Given the description of an element on the screen output the (x, y) to click on. 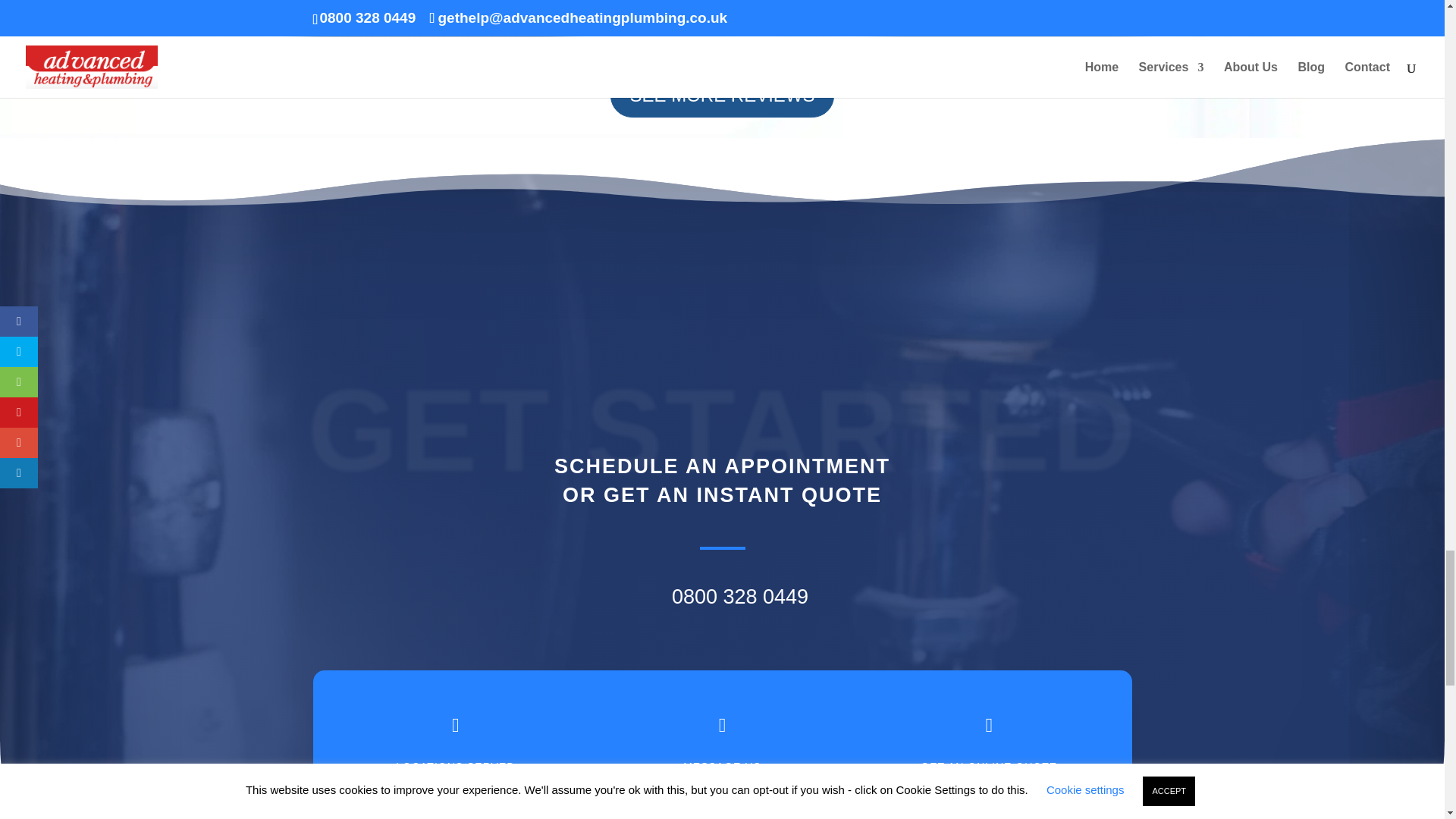
0800 328 0449 (739, 596)
SEE MORE REVIEWS (721, 95)
